Given the description of an element on the screen output the (x, y) to click on. 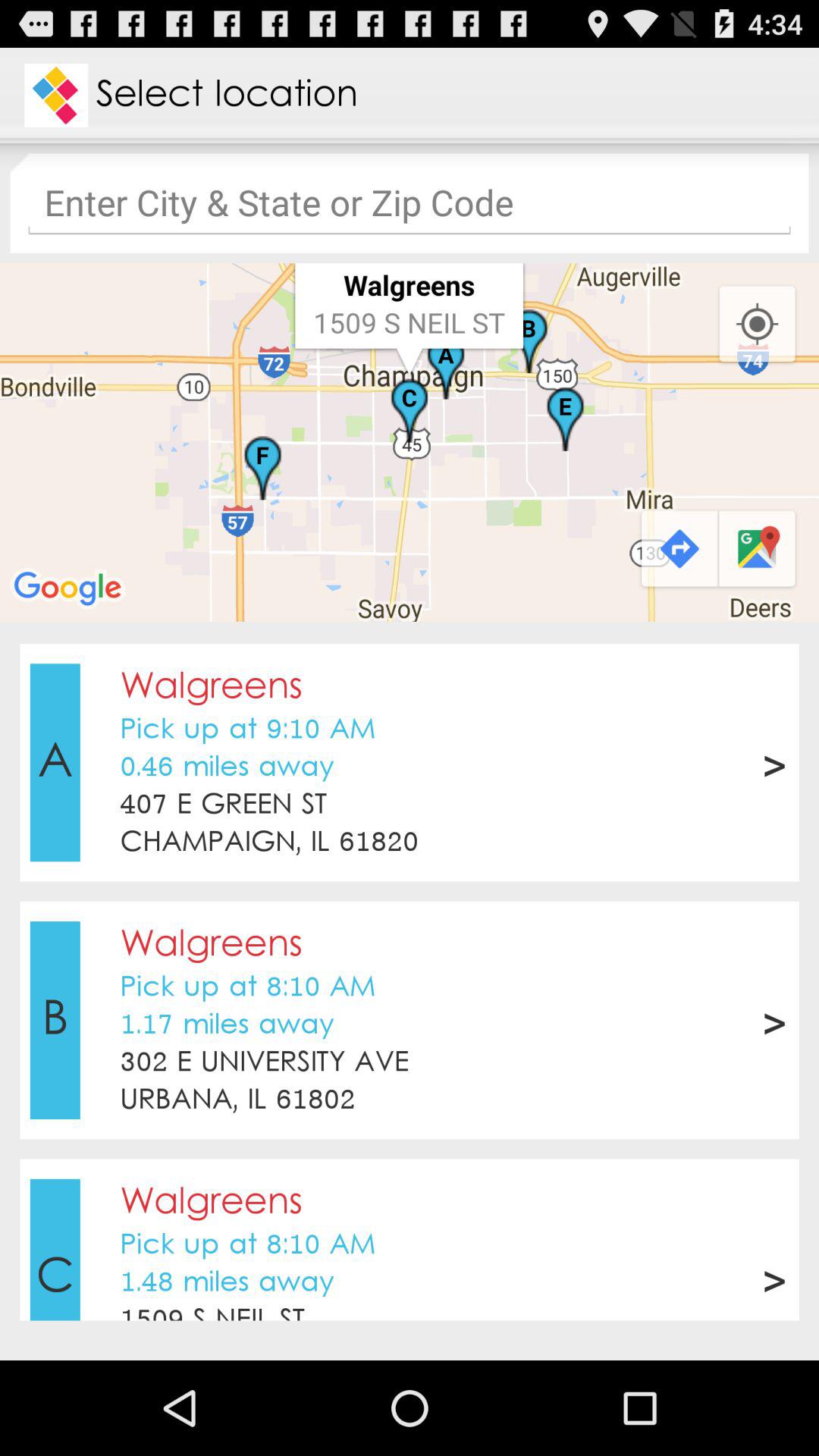
tap item to the right of the 302 e university app (773, 1020)
